Given the description of an element on the screen output the (x, y) to click on. 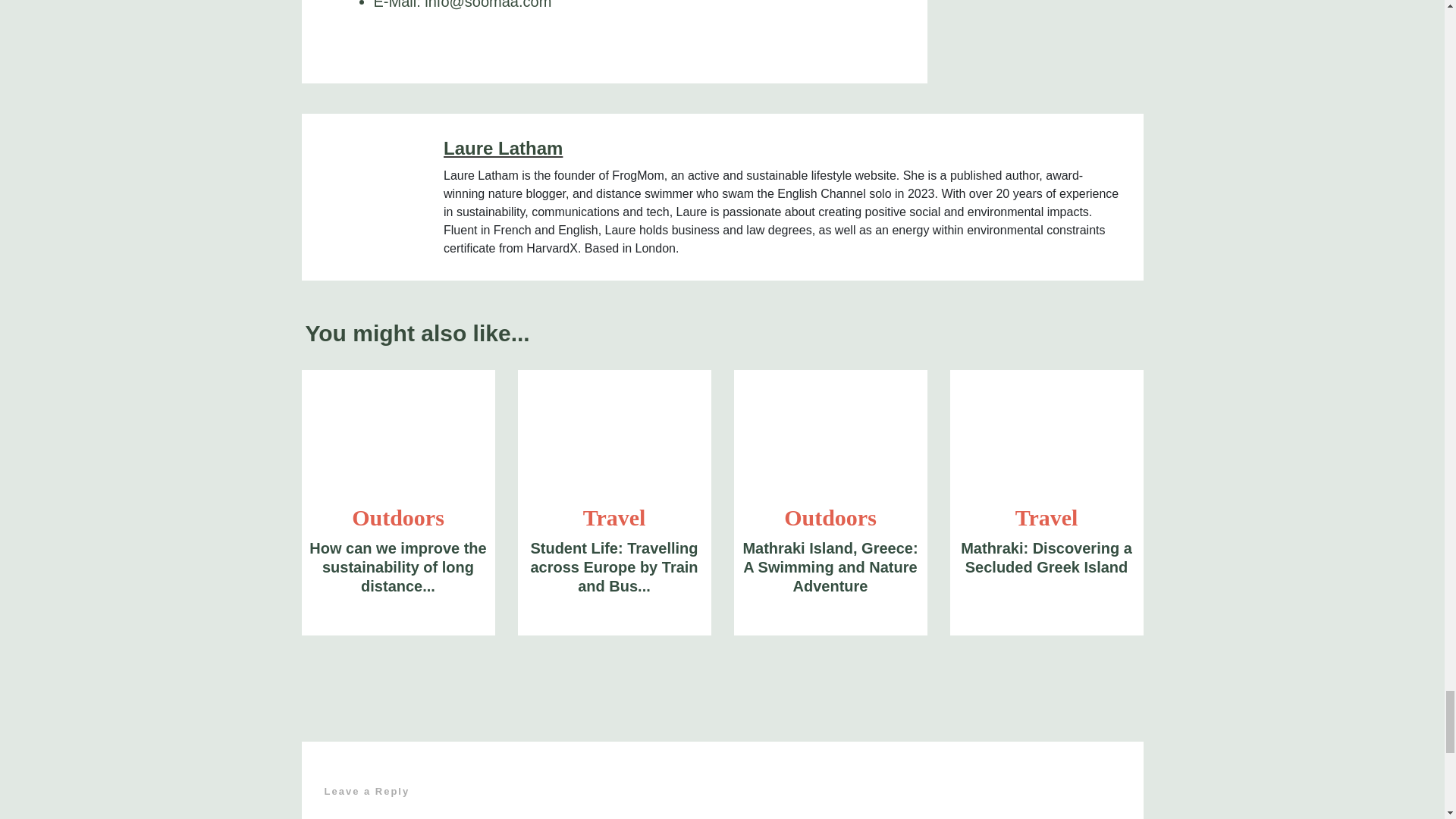
Laure Latham (782, 158)
Mathraki Island, Greece: A Swimming and Nature Adventure (830, 432)
Mathraki: Discovering a Secluded Greek Island (1045, 432)
